Given the description of an element on the screen output the (x, y) to click on. 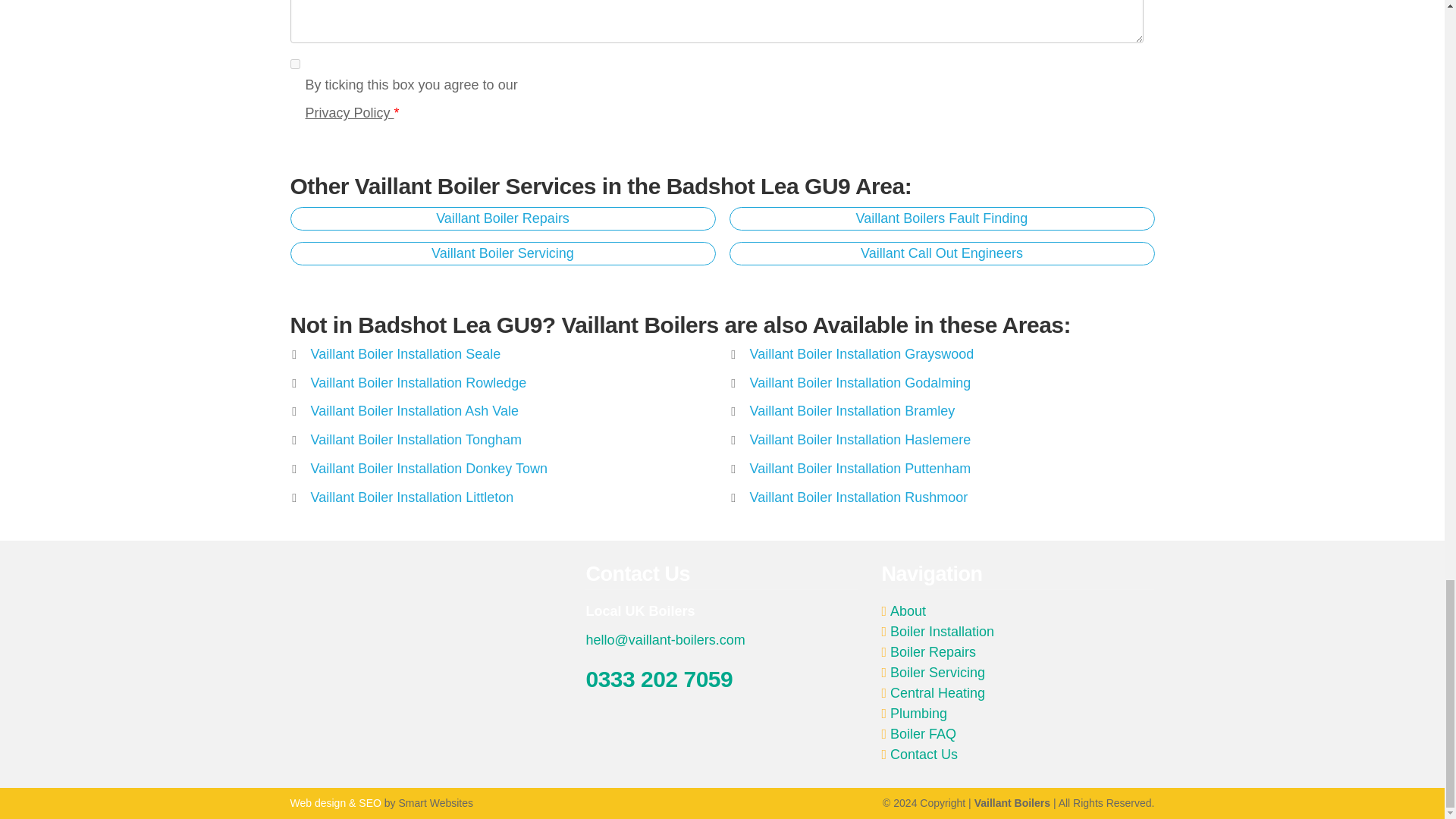
Privacy Policy (348, 112)
Vaillant Boiler Servicing (501, 253)
Vaillant Boilers Fault Finding (941, 218)
Vaillant Call Out Engineers (941, 253)
Vaillant Boiler Repairs (501, 218)
1 (294, 63)
Visit the Smart Numbers Website (334, 802)
